Given the description of an element on the screen output the (x, y) to click on. 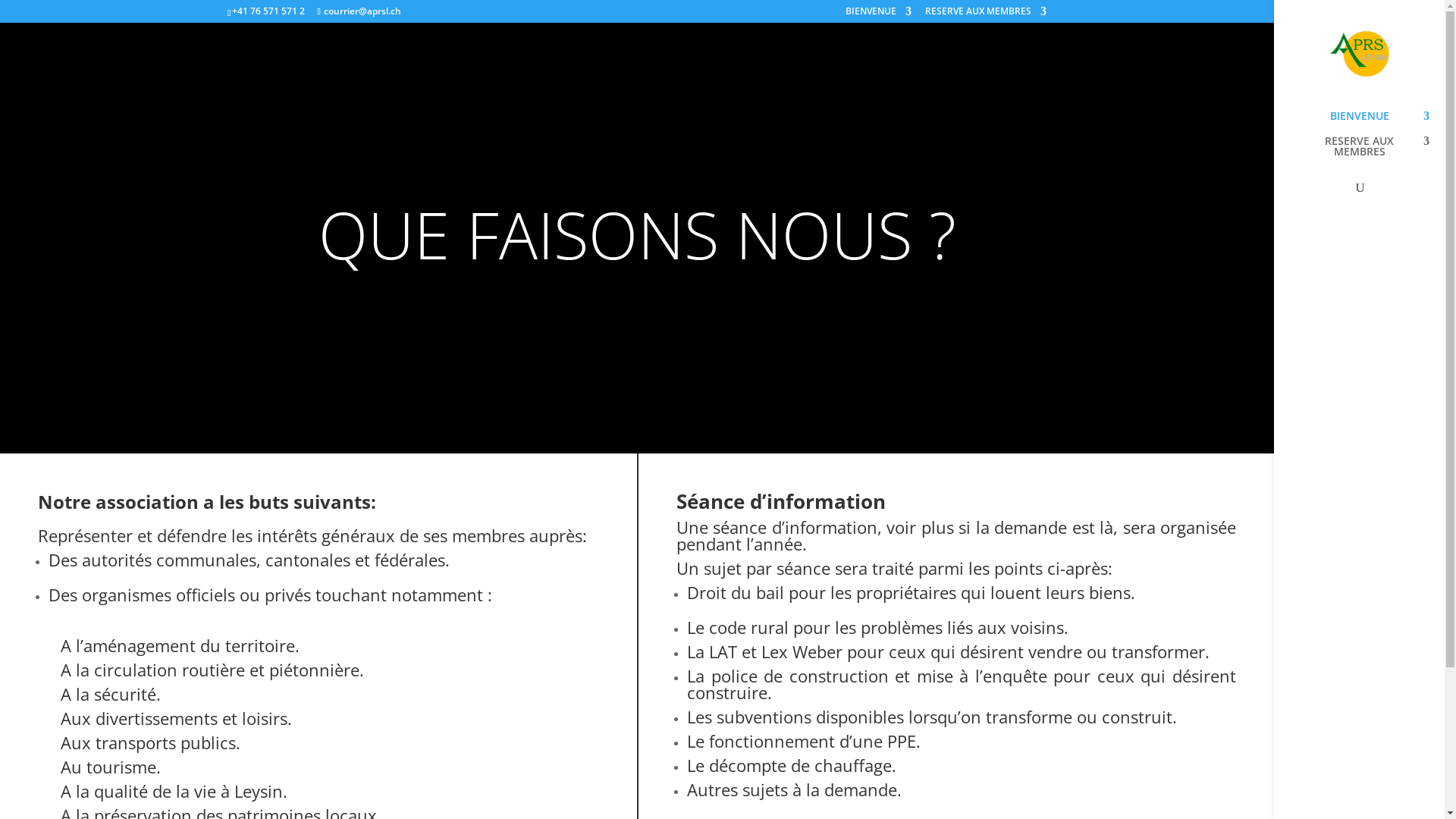
BIENVENUE Element type: text (878, 14)
RESERVE AUX MEMBRES Element type: text (1374, 153)
BIENVENUE Element type: text (1374, 122)
RESERVE AUX MEMBRES Element type: text (985, 14)
courrier@aprsl.ch Element type: text (358, 10)
